Given the description of an element on the screen output the (x, y) to click on. 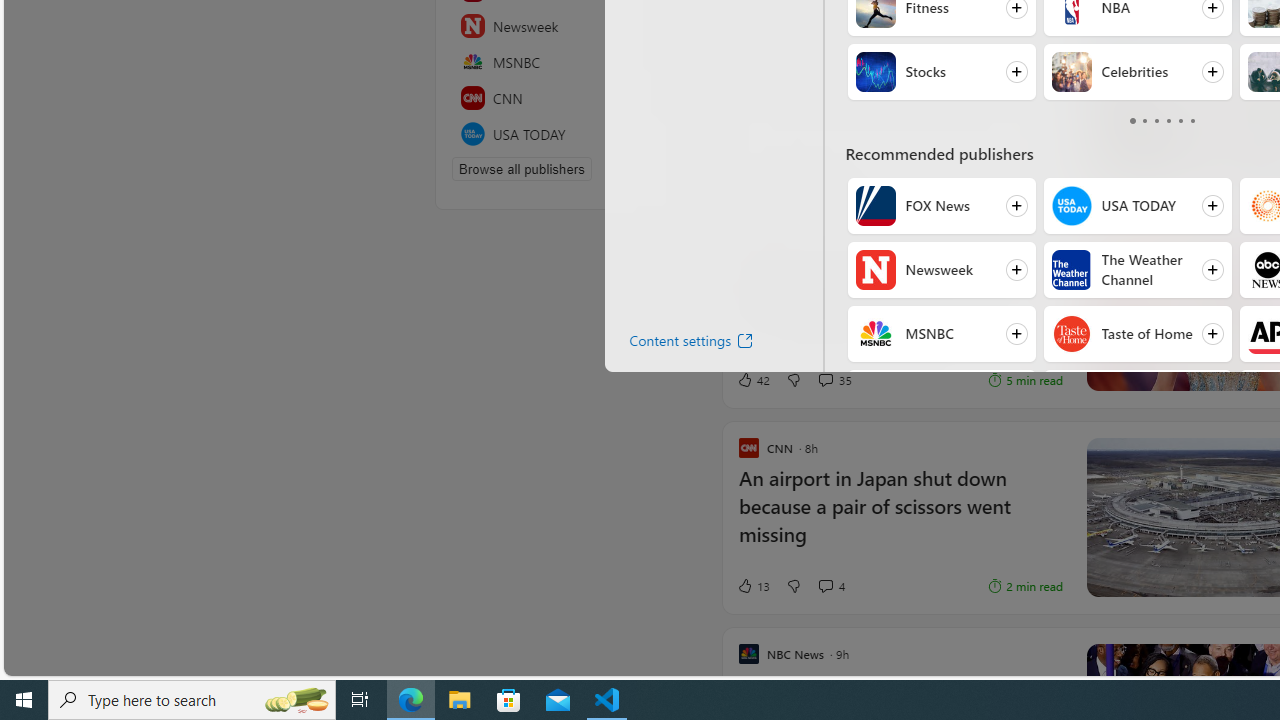
View comments 35 Comment (834, 379)
Follow NBC News (1137, 398)
Ad Choice (1046, 179)
Follow CNN (941, 398)
FOX News (875, 205)
Content settings (675, 344)
View comments 4 Comment (830, 585)
View comments 35 Comment (825, 380)
Follow Taste of Home (1137, 334)
MSNBC (875, 333)
View comments 4 Comment (825, 586)
